Given the description of an element on the screen output the (x, y) to click on. 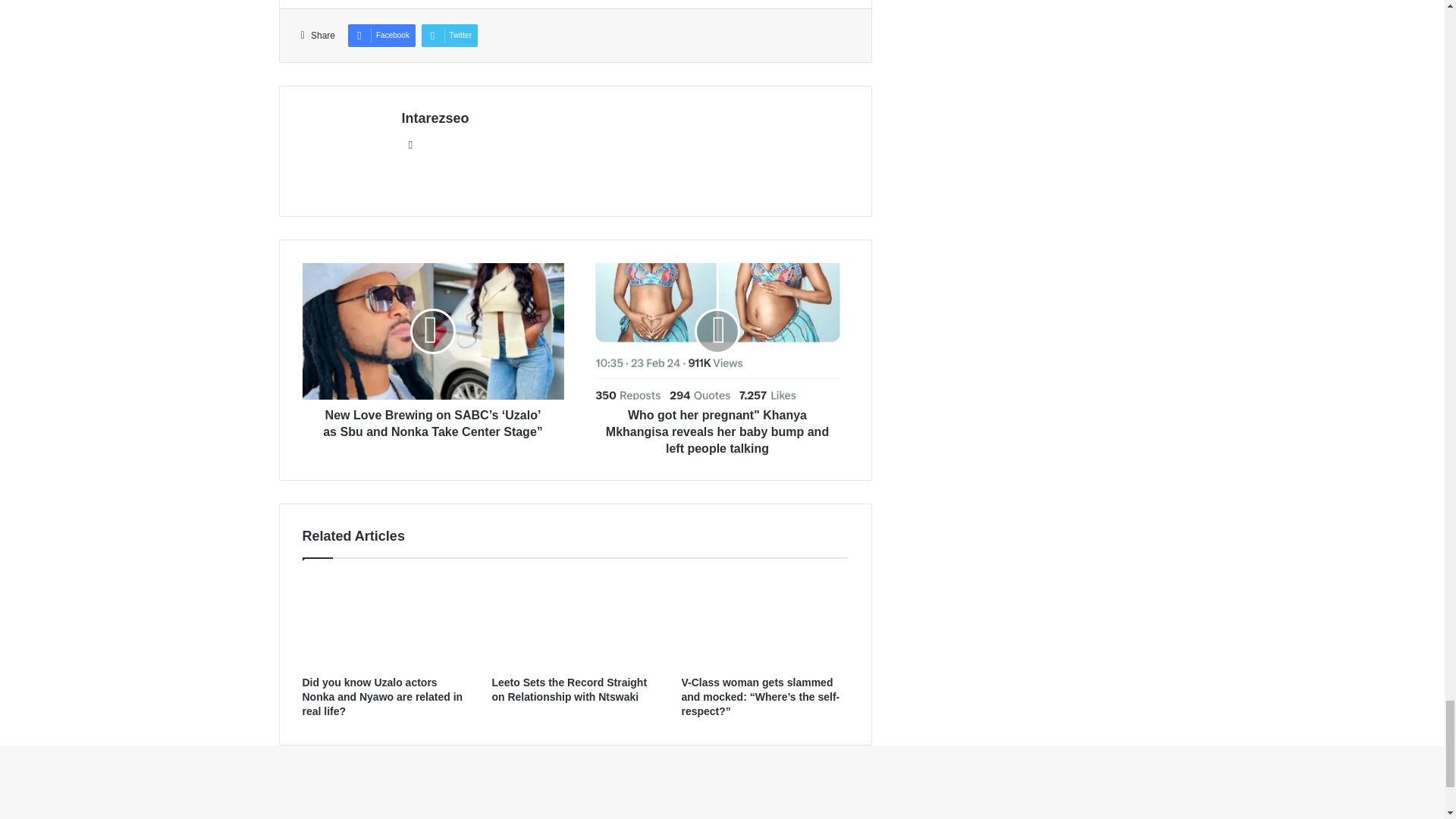
Website (410, 144)
Twitter (449, 35)
Facebook (380, 35)
Intarezseo (434, 118)
